Given the description of an element on the screen output the (x, y) to click on. 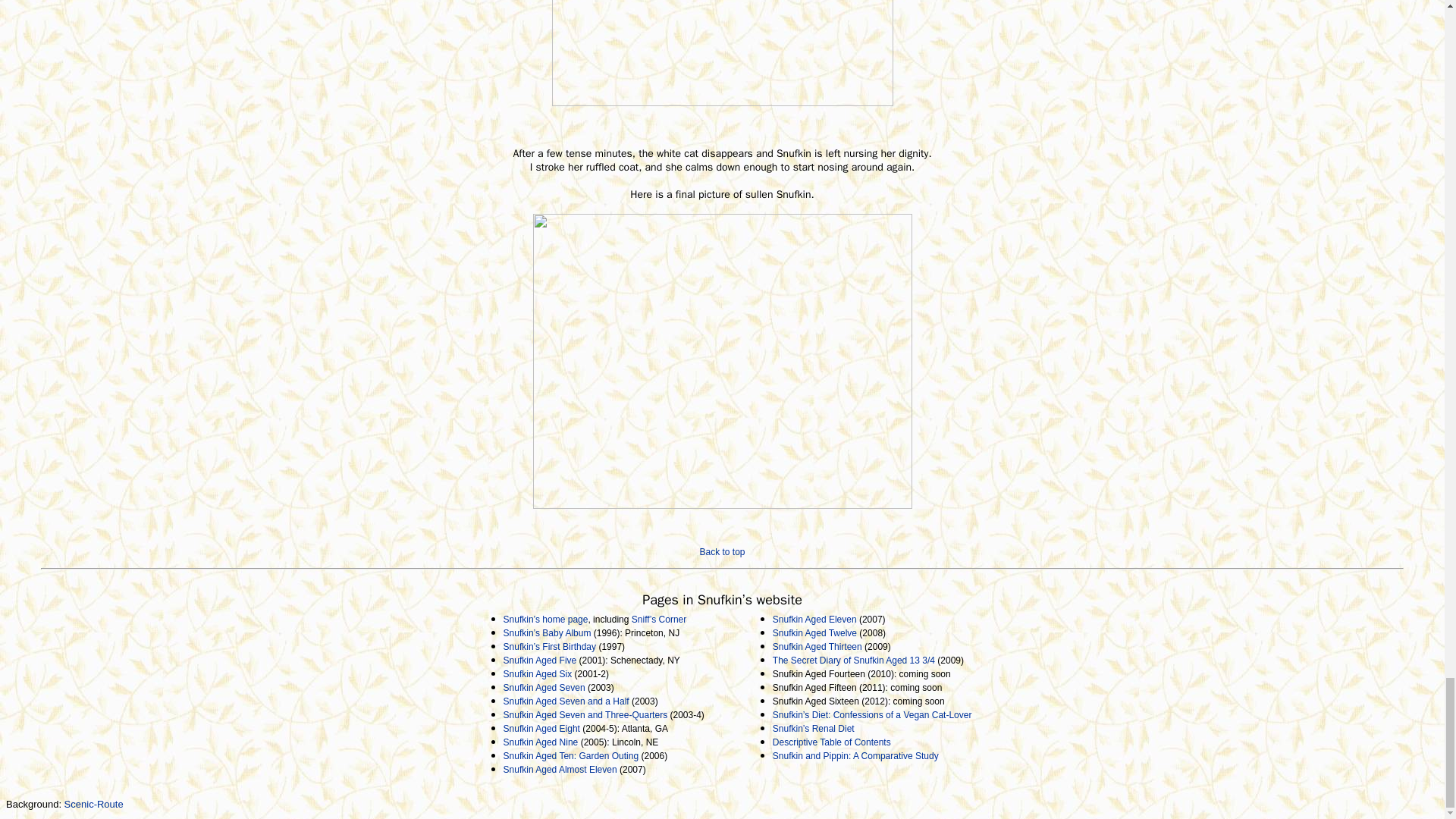
Snufkin Aged Nine (540, 742)
Snufkin Aged Thirteen (817, 646)
Snufkin Aged Eleven (815, 619)
Snufkin Aged Seven and Three-Quarters (585, 715)
Snufkin Aged Eight (541, 728)
Snufkin Aged Five (539, 660)
Snufkin Aged Ten: Garden Outing (571, 756)
Snufkin and Pippin: A Comparative Study (856, 756)
Snufkin Aged Seven and a Half (565, 701)
Back to top (721, 552)
